Given the description of an element on the screen output the (x, y) to click on. 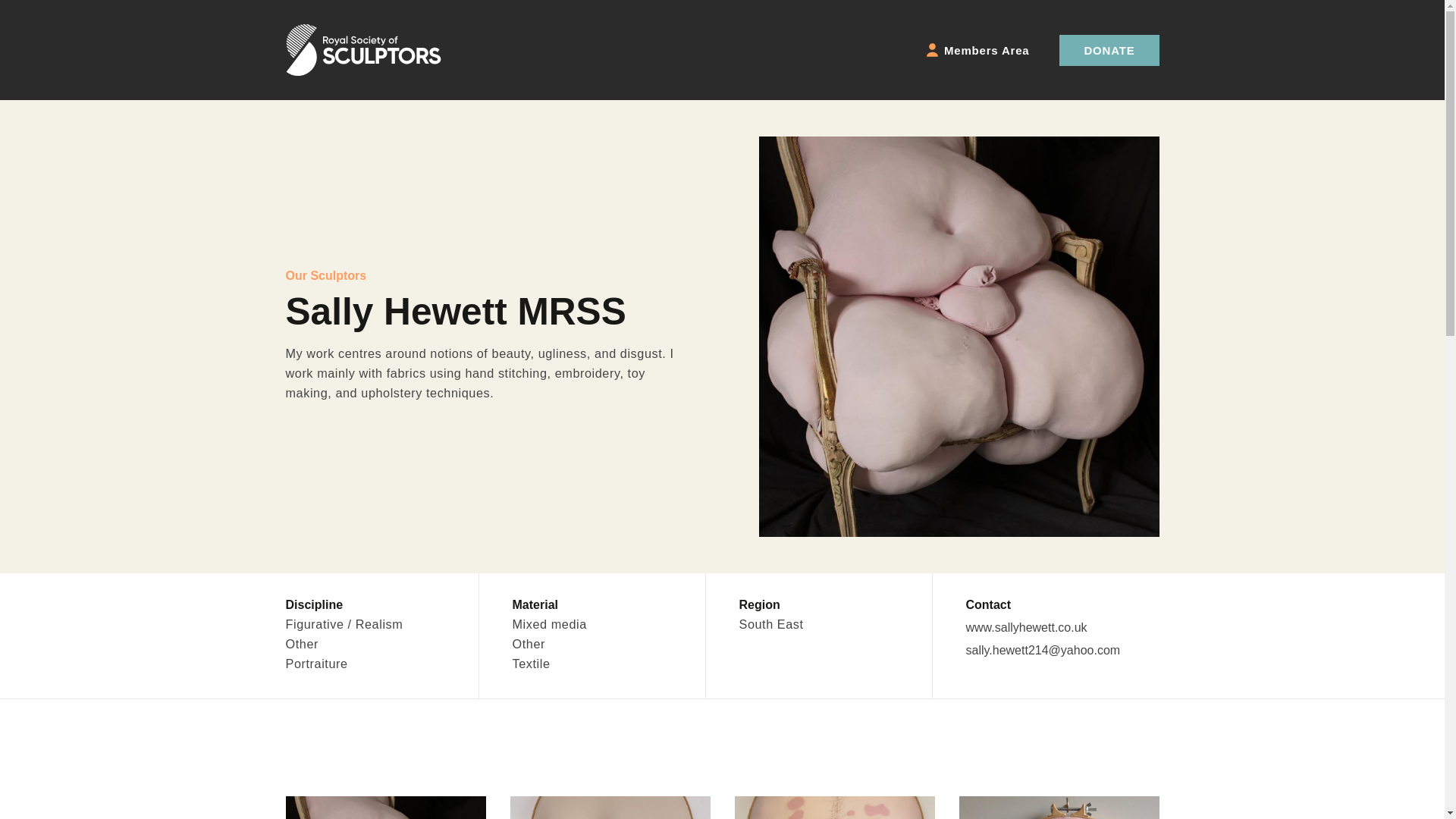
sore-I-ah-sis (833, 807)
Vasomotor Instability (1058, 807)
Louis' Chair (384, 807)
DONATE (1108, 50)
Members Area (977, 49)
www.sallyhewett.co.uk (1026, 626)
Royal Society of Sculptors (363, 50)
Ectomy (609, 807)
